Given the description of an element on the screen output the (x, y) to click on. 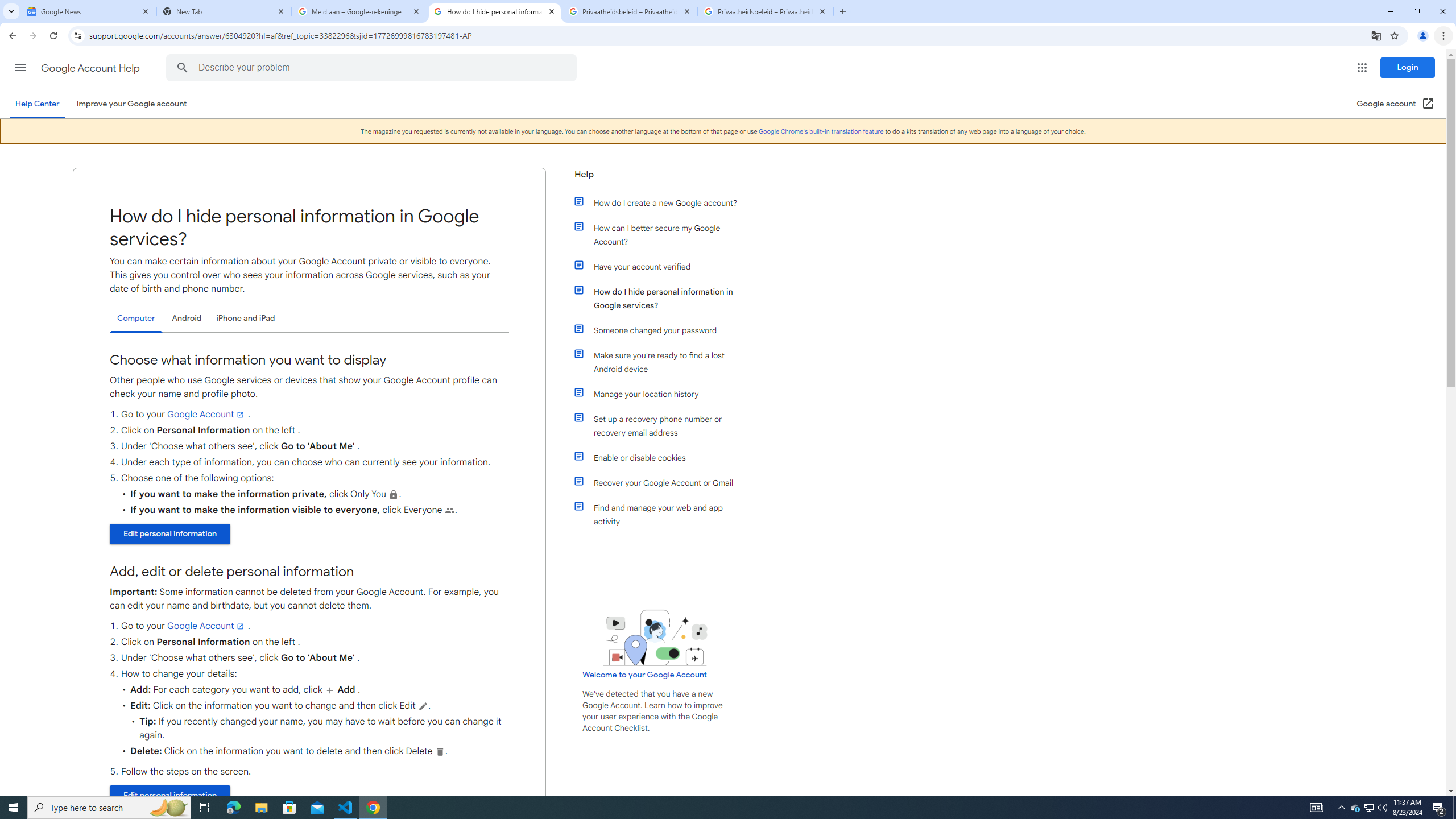
Login (1407, 67)
Edit personal information (169, 795)
Google Account (206, 626)
Google News (88, 11)
Enable or disable cookies (661, 457)
Add User (329, 689)
To process (422, 706)
Welcome to your Google Account (644, 674)
